Given the description of an element on the screen output the (x, y) to click on. 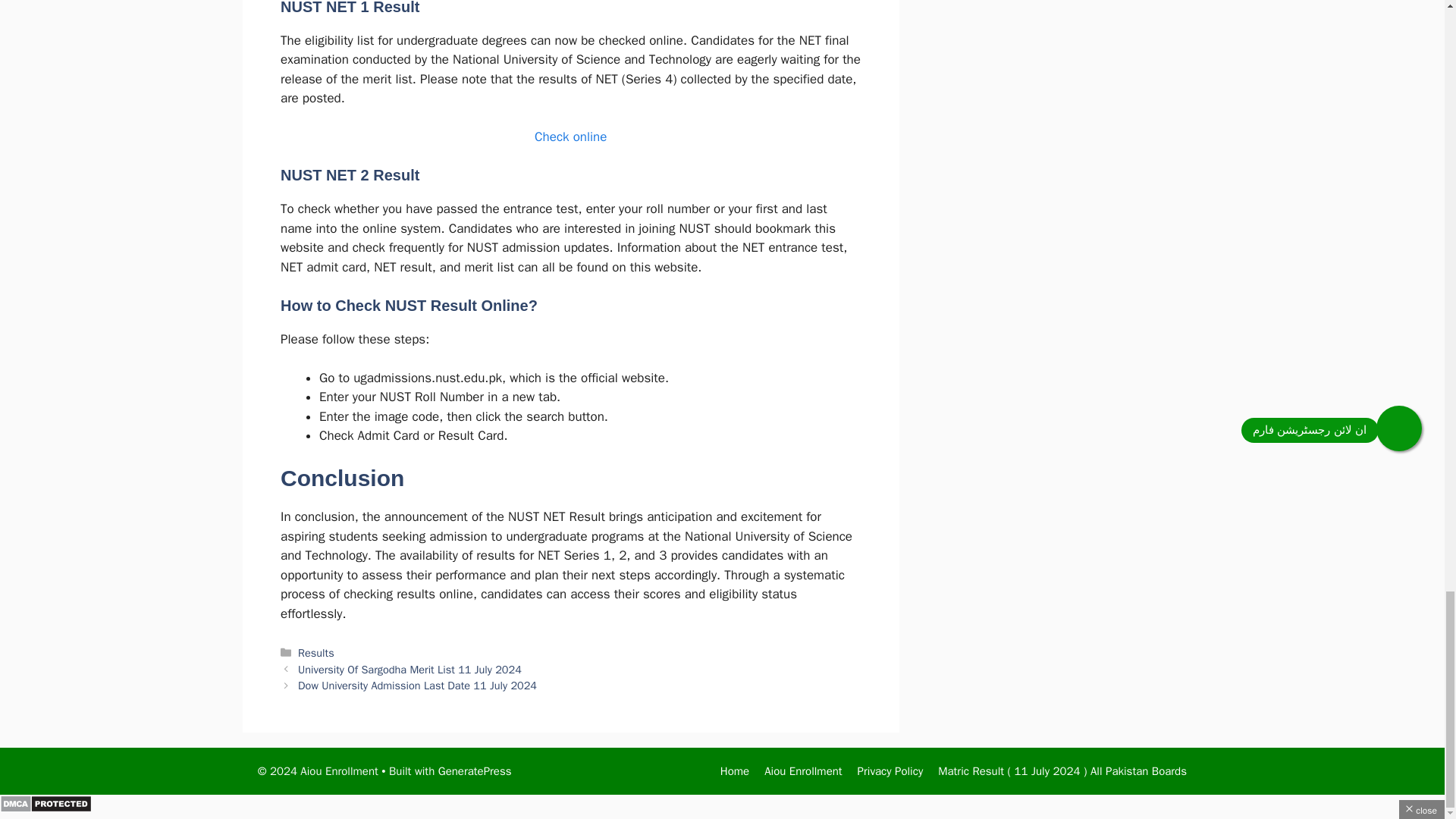
University Of Sargodha Merit List 11 July 2024 (409, 669)
Dow University Admission Last Date 11 July 2024 (417, 685)
DMCA.com Protection Status (45, 808)
Results (316, 653)
Check online (570, 136)
